Given the description of an element on the screen output the (x, y) to click on. 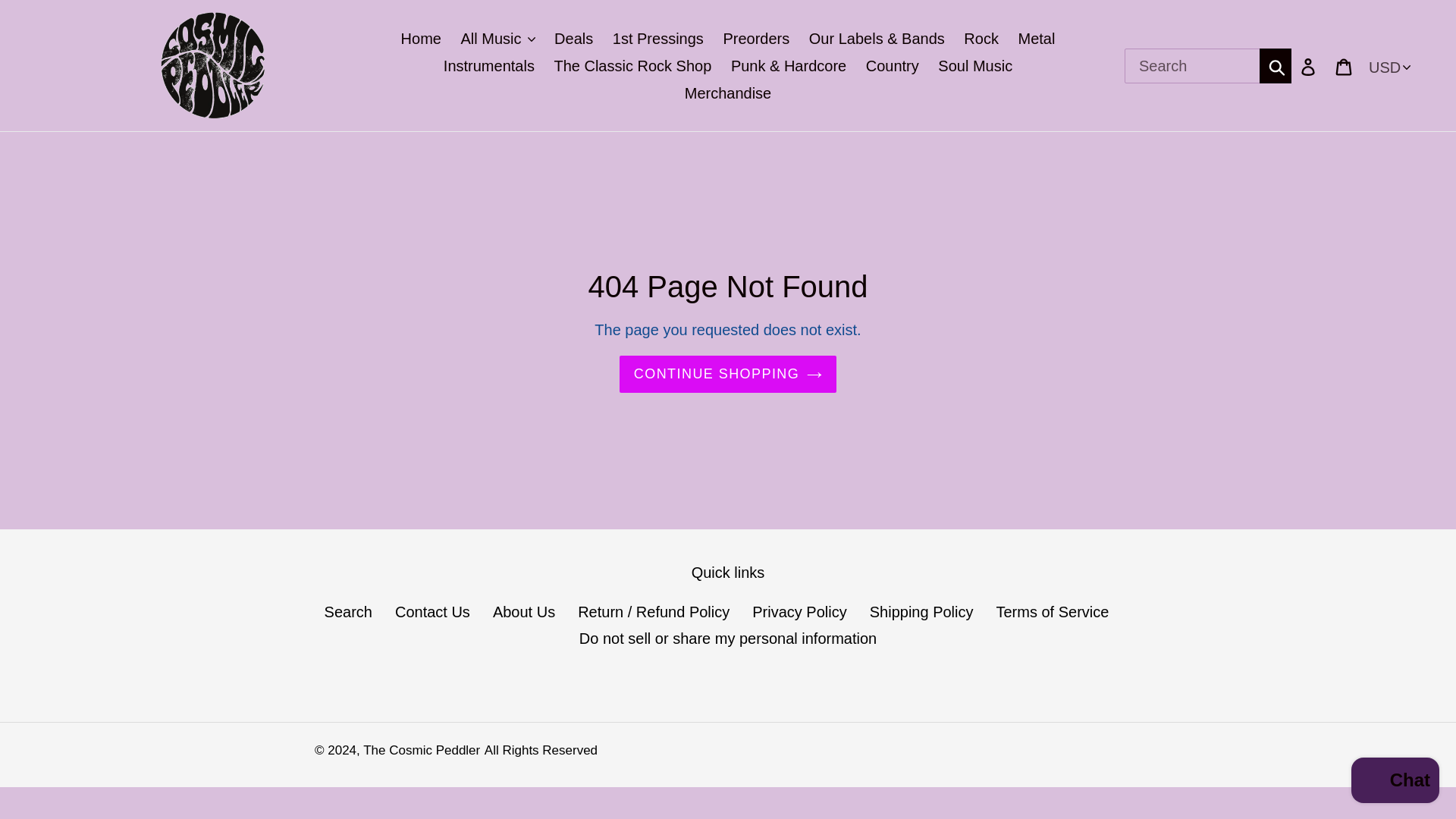
Instrumentals (488, 64)
Submit (1275, 65)
1st Pressings (658, 37)
Country (892, 64)
Soul Music (975, 64)
Home (420, 37)
Cart (1344, 65)
Preorders (755, 37)
Log in (1308, 65)
The Classic Rock Shop (632, 64)
